Given the description of an element on the screen output the (x, y) to click on. 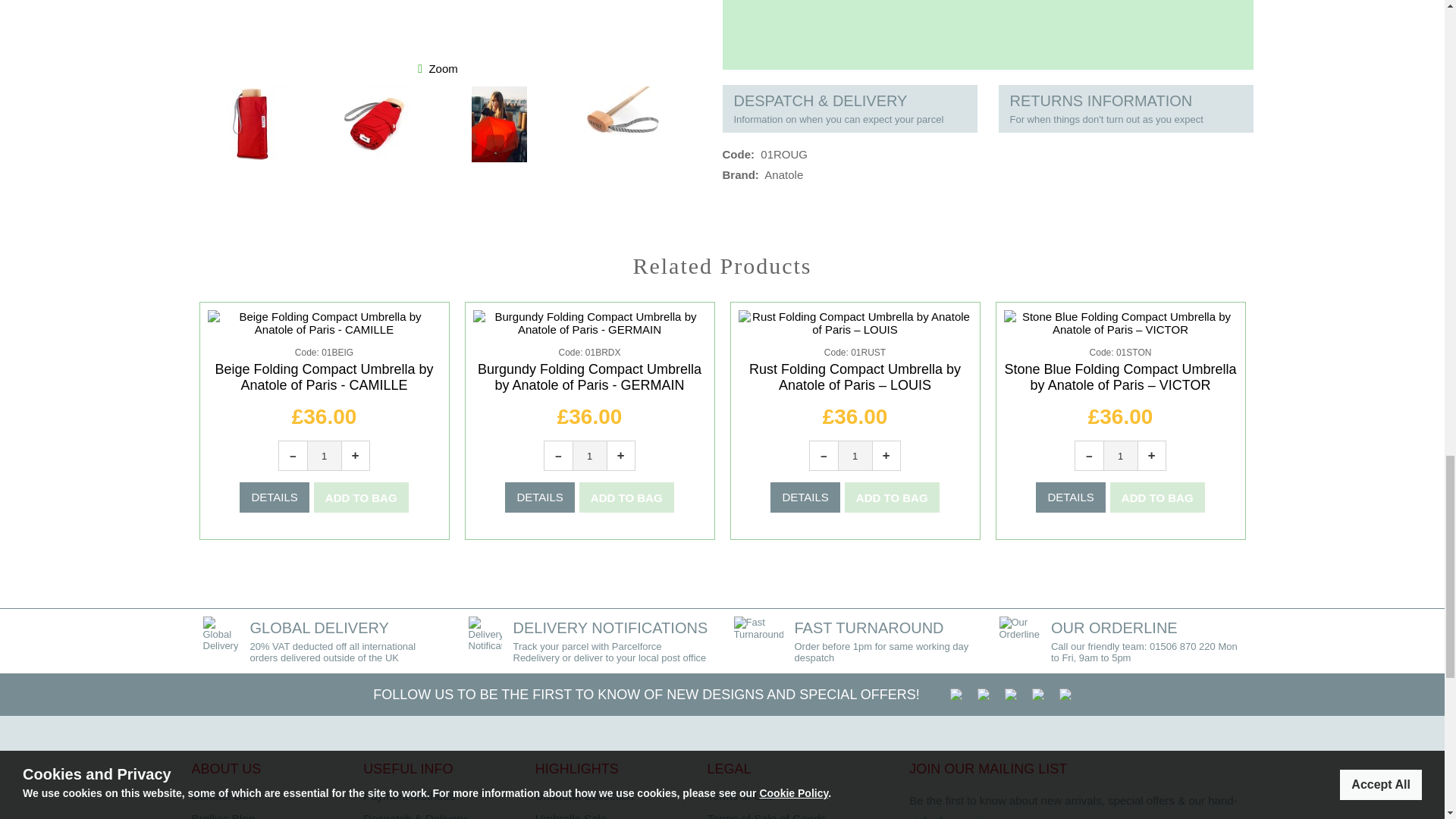
DETAILS (1070, 497)
ADD TO BAG (626, 497)
1 (322, 455)
1 (1119, 455)
1 (589, 455)
ADD TO BAG (1157, 497)
DETAILS (539, 497)
DETAILS (274, 497)
ADD TO BAG (891, 497)
Beige Folding Compact Umbrella by Anatole of Paris - CAMILLE (323, 377)
DETAILS (805, 497)
